Given the description of an element on the screen output the (x, y) to click on. 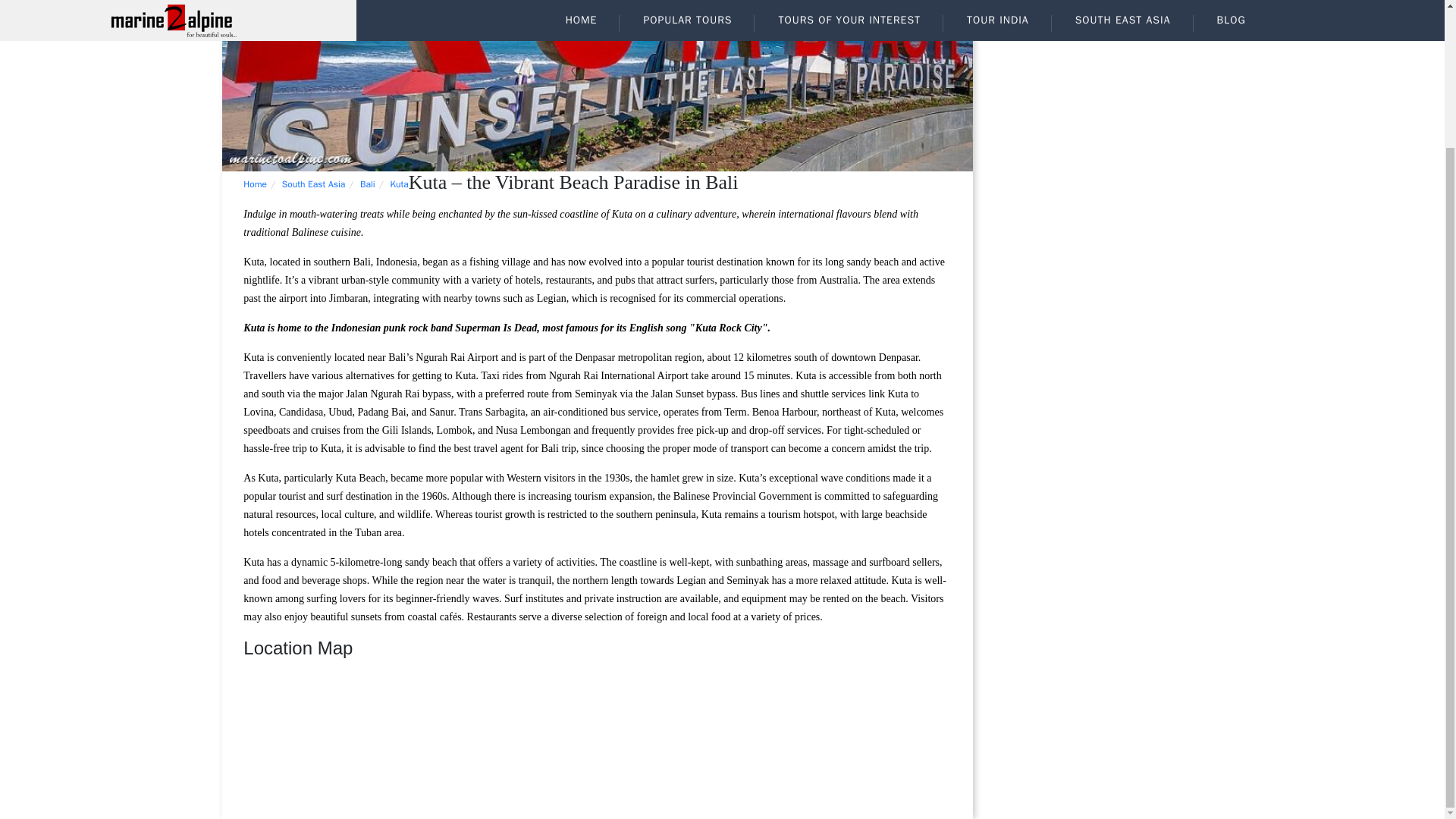
Home (254, 184)
South East Asia (313, 184)
Bali (367, 184)
Kuta (596, 85)
Kuta (399, 184)
